Given the description of an element on the screen output the (x, y) to click on. 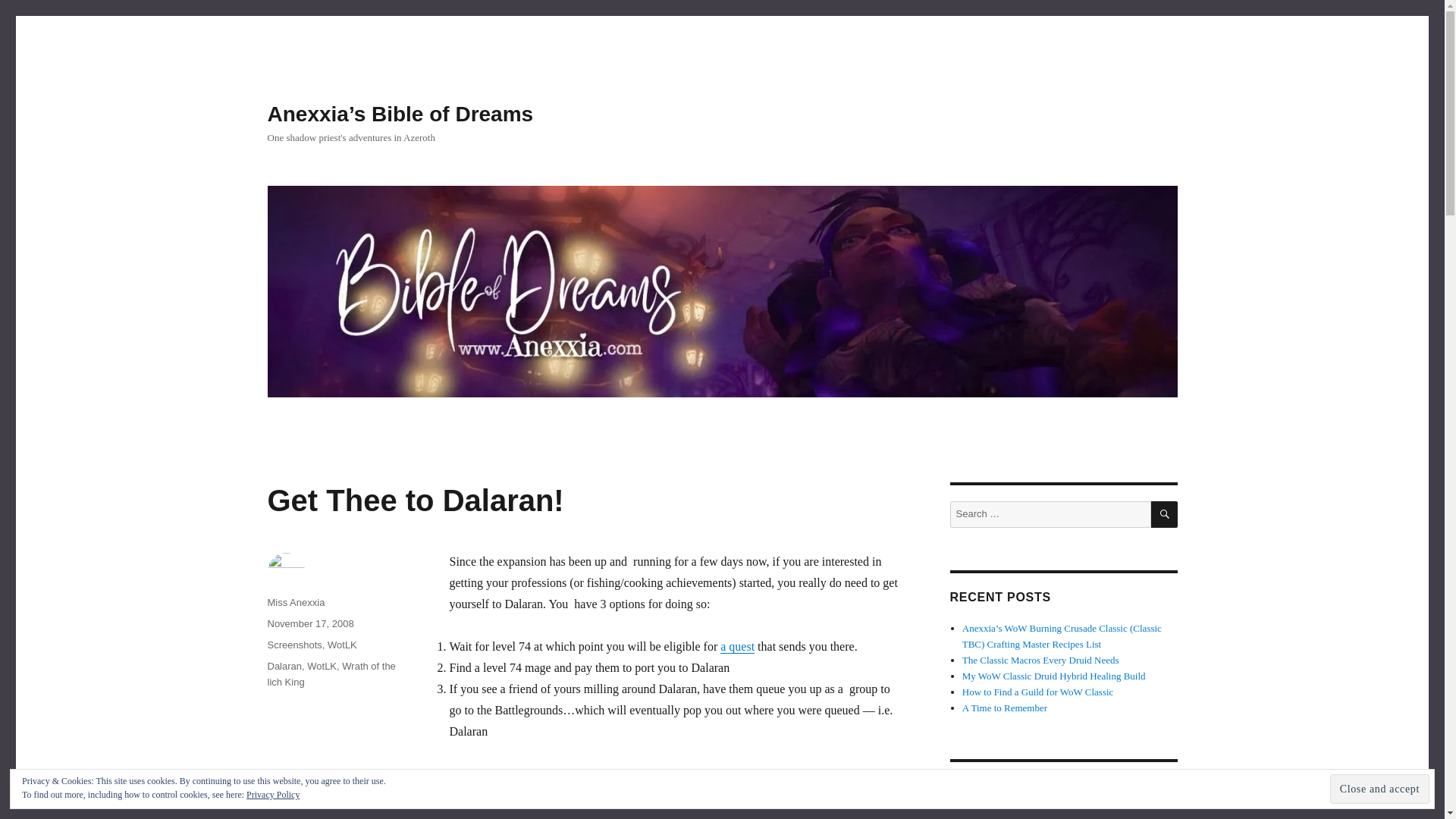
Wrath of the lich King (330, 673)
WotLK (341, 644)
The Classic Macros Every Druid Needs (1040, 659)
My WoW Classic Druid Hybrid Healing Build (1053, 675)
SEARCH (1164, 514)
How to Find a Guild for WoW Classic (1037, 691)
Dalaran (283, 665)
WotLK (321, 665)
a quest (737, 645)
Screenshots (293, 644)
A Time to Remember (1004, 707)
November 17, 2008 (309, 623)
Miss Anexxia (295, 602)
Privacy Policy (991, 815)
Close and accept (1379, 788)
